Given the description of an element on the screen output the (x, y) to click on. 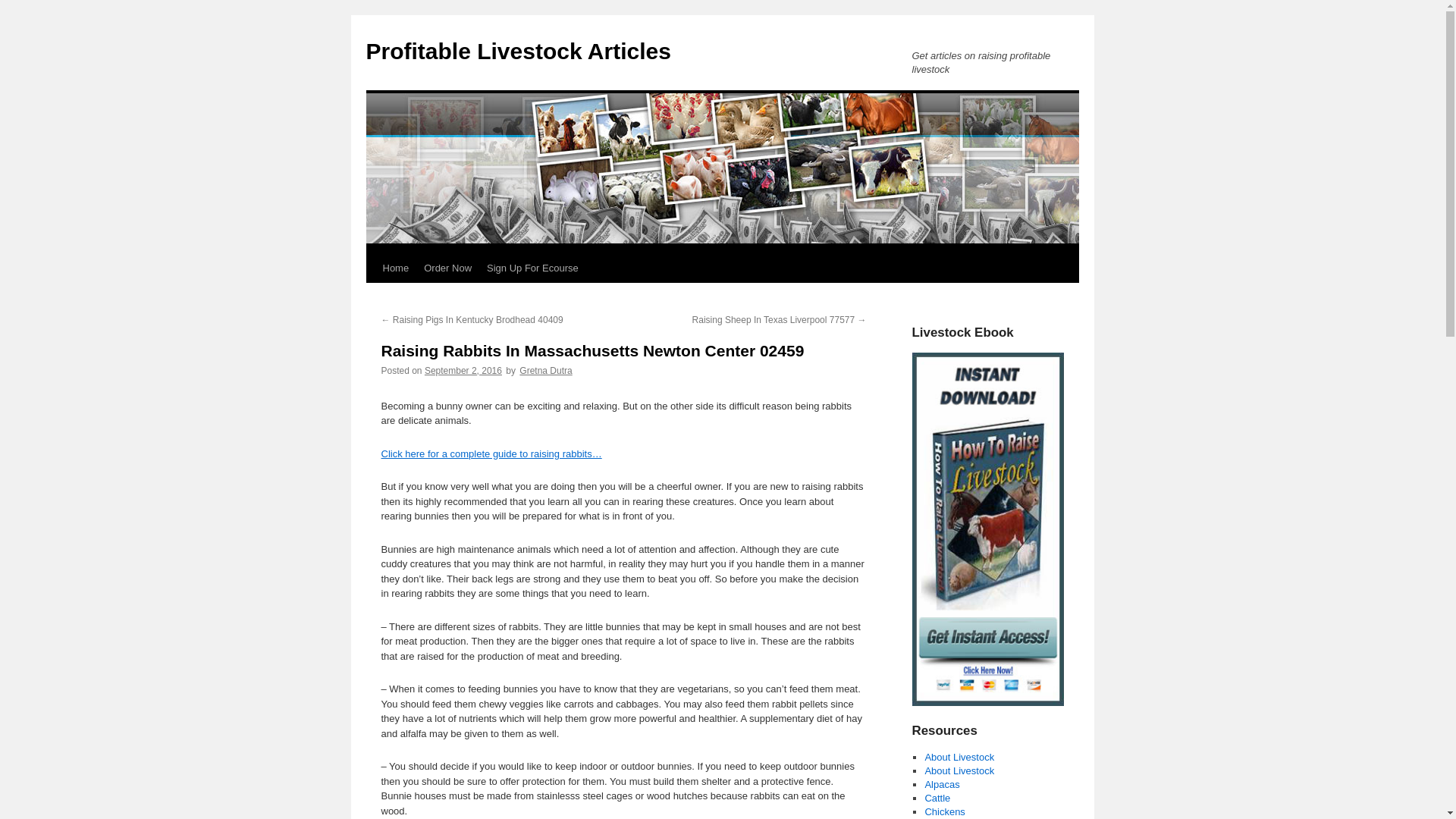
View all posts by Gretna Dutra (545, 370)
September 2, 2016 (463, 370)
12:47 pm (463, 370)
About Livestock (959, 756)
Gretna Dutra (545, 370)
Home (395, 267)
Alpacas (941, 784)
Sign Up For Ecourse (532, 267)
Order Now (447, 267)
Profitable Livestock Articles (517, 50)
Profitable Livestock Articles (517, 50)
Cattle (937, 797)
About Livestock (959, 770)
